Given the description of an element on the screen output the (x, y) to click on. 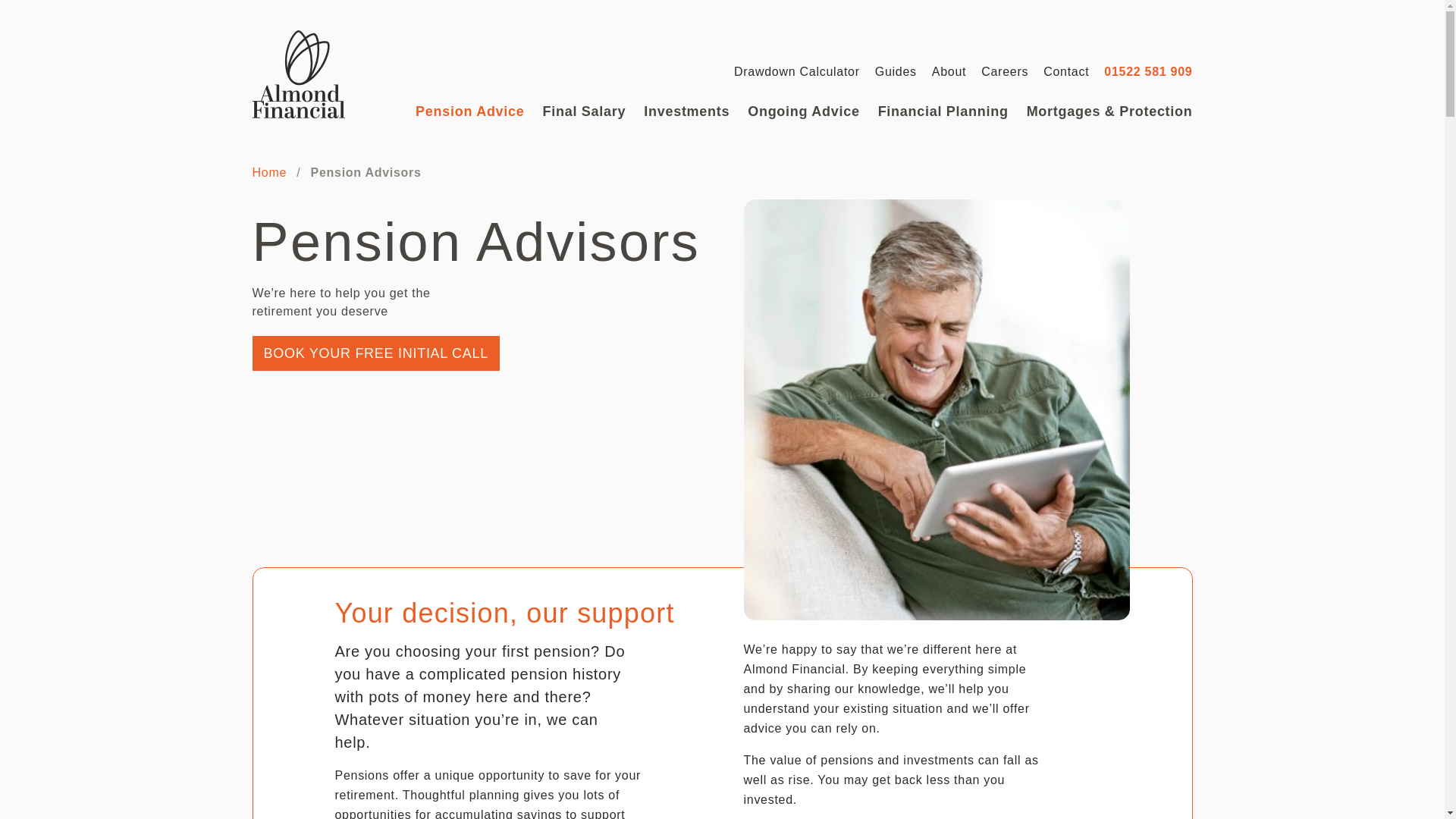
Ongoing Advice (803, 111)
Drawdown Calculator (796, 71)
Financial Planning (943, 111)
01522 581 909 (1147, 71)
Investments (686, 111)
Careers (1004, 71)
About (948, 71)
Contact (1066, 71)
Pension Advice (469, 111)
Final Salary (584, 111)
